Given the description of an element on the screen output the (x, y) to click on. 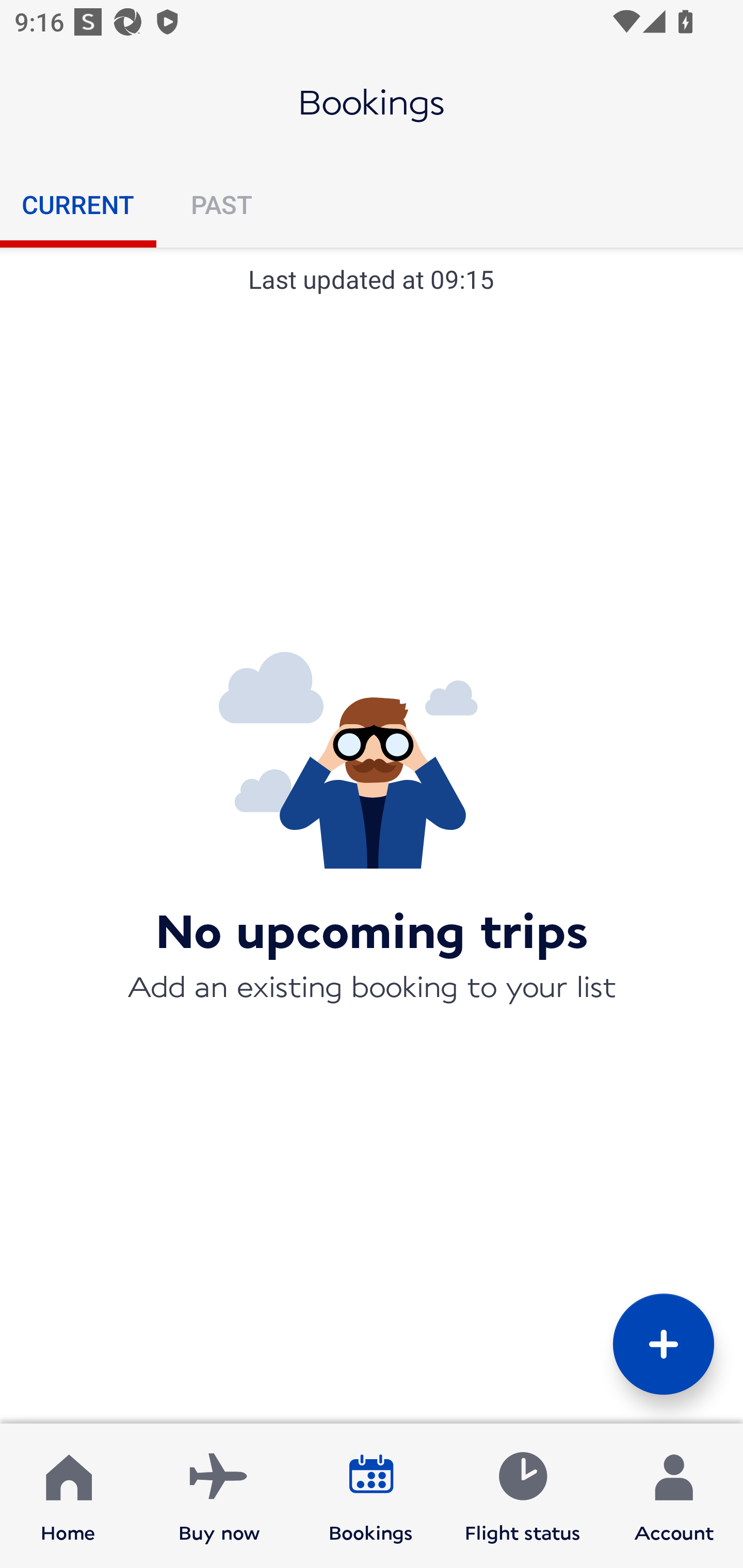
PAST (221, 204)
Home (68, 1495)
Buy now (219, 1495)
Flight status (522, 1495)
Account (674, 1495)
